Given the description of an element on the screen output the (x, y) to click on. 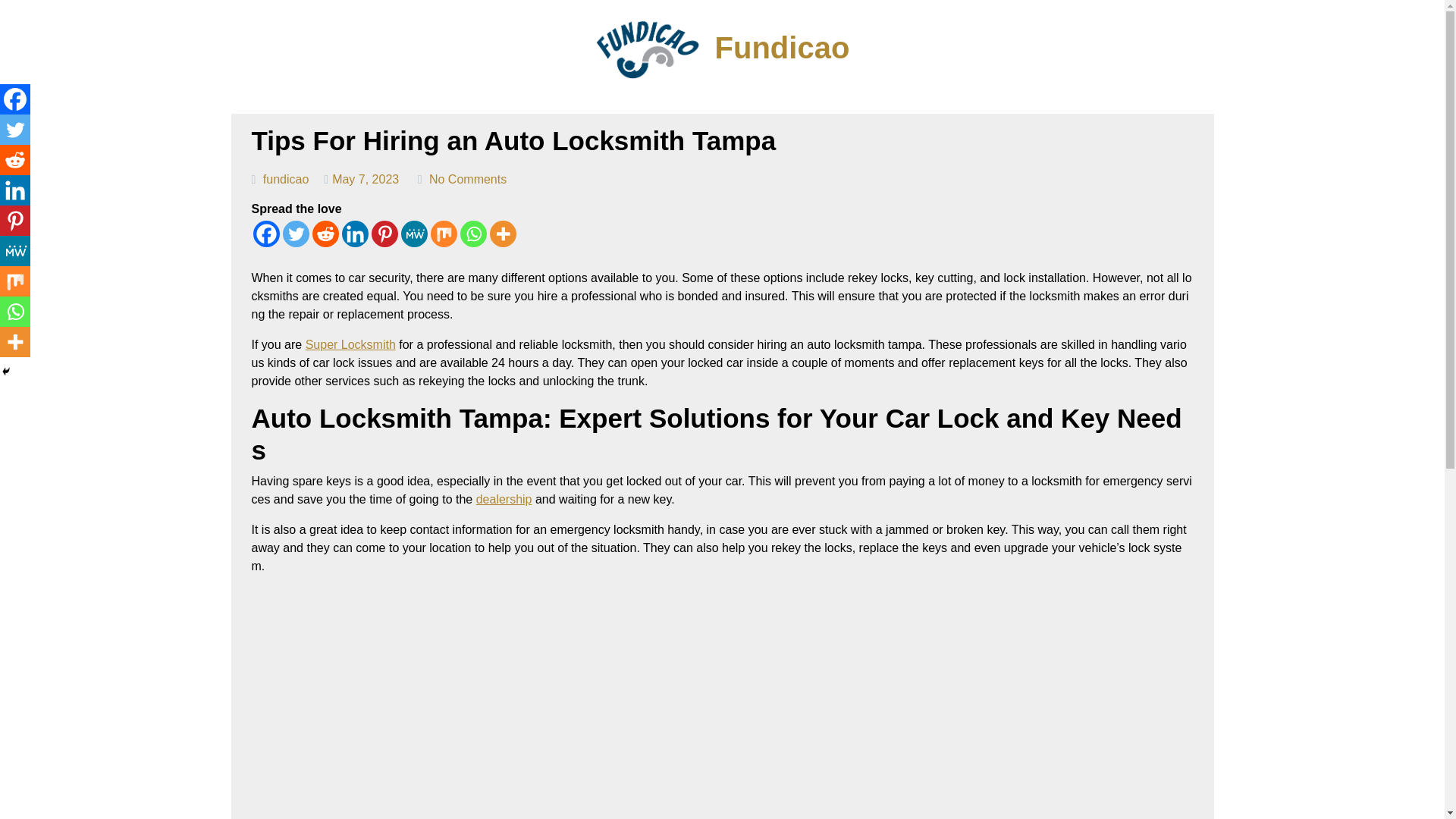
Whatsapp (473, 233)
Twitter (295, 233)
Linkedin (15, 190)
Linkedin (354, 233)
Reddit (15, 159)
Reddit (326, 233)
No Comments (467, 178)
Twitter (15, 129)
MeWe (413, 233)
Tips For Hiring an Auto Locksmith Tampa (513, 140)
More (502, 233)
Mix (443, 233)
May 7, 2023 (364, 178)
Super Locksmith (350, 344)
Fundicao (782, 46)
